Given the description of an element on the screen output the (x, y) to click on. 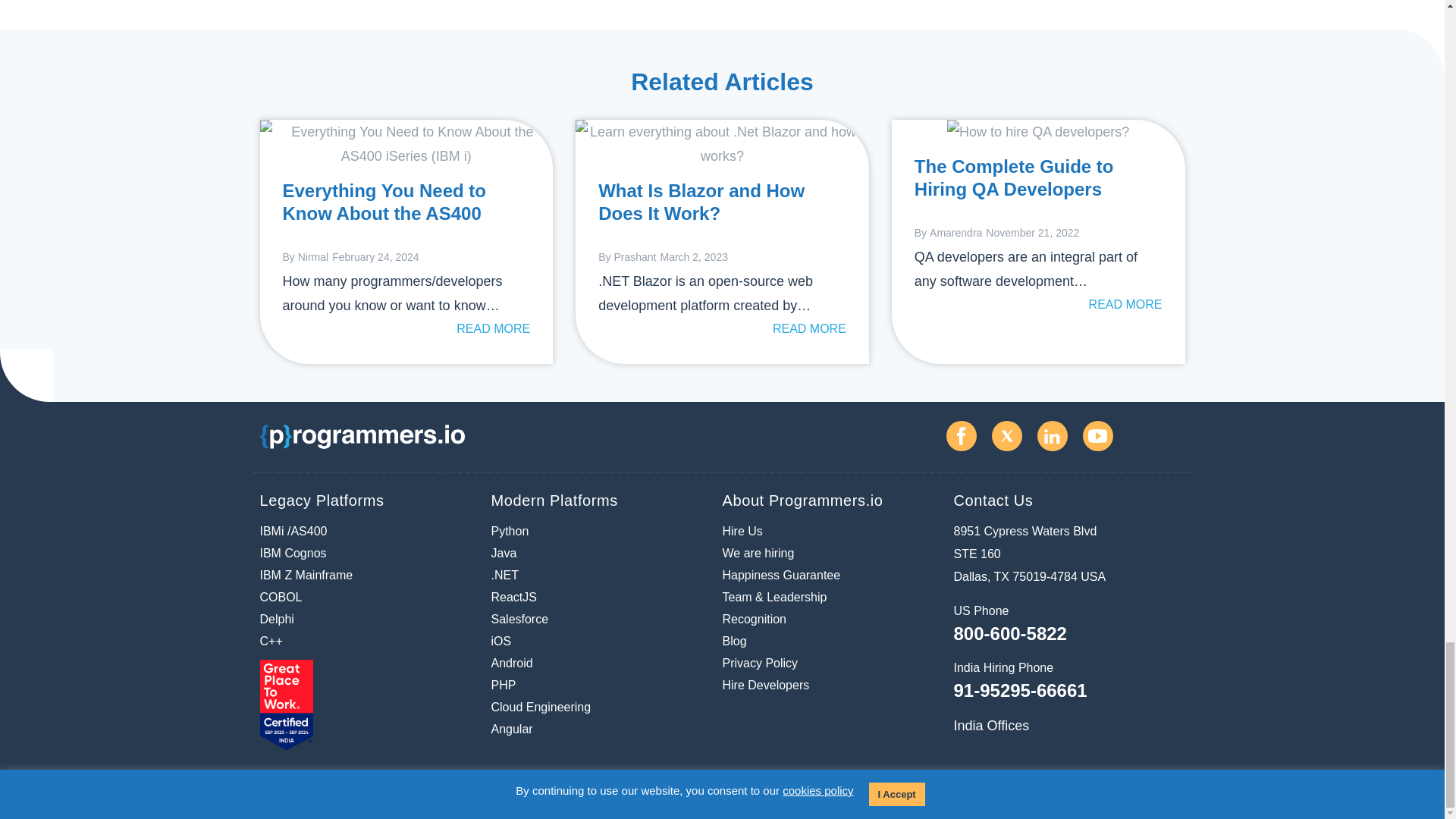
What Is Blazor and How Does It Work? (722, 143)
The Complete Guide to Hiring QA Developers (1038, 131)
